Given the description of an element on the screen output the (x, y) to click on. 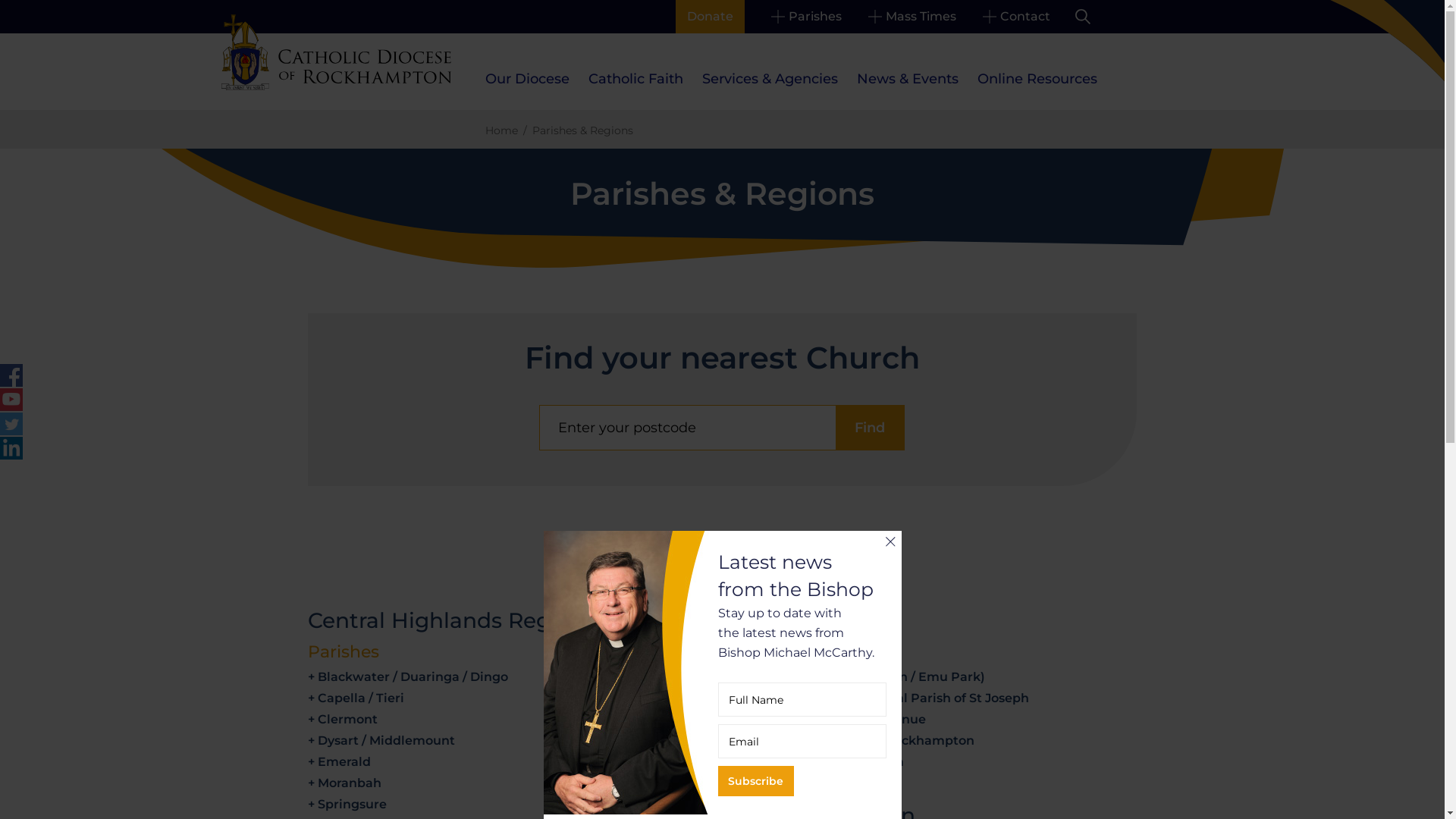
Catholic Faith Element type: text (635, 78)
Dysart / Middlemount Element type: text (386, 740)
Services & Agencies Element type: text (769, 78)
Close Element type: text (890, 541)
Moranbah Element type: text (349, 782)
Clermont Element type: text (347, 718)
Contact Element type: text (1016, 16)
Catholic Diocese of Rockhampton Element type: hover (336, 52)
Twitter Element type: text (11, 423)
Parishes Element type: text (805, 16)
Home Element type: text (501, 130)
Emerald Element type: text (343, 761)
Youtube Element type: text (11, 399)
Facebook Element type: text (11, 375)
Find Element type: text (869, 427)
Our Diocese Element type: text (527, 78)
Search Element type: text (1082, 16)
Springsure Element type: text (351, 803)
News & Events Element type: text (907, 78)
Capella / Tieri Element type: text (360, 697)
Linkedin Element type: text (11, 447)
Blackwater / Duaringa / Dingo Element type: text (412, 676)
Mass Times Element type: text (911, 16)
Donate Element type: text (708, 16)
Capricorn Coast (Yeppoon / Emu Park) Element type: text (864, 676)
Online Resources Element type: text (1036, 78)
Subscribe Element type: text (755, 780)
